Given the description of an element on the screen output the (x, y) to click on. 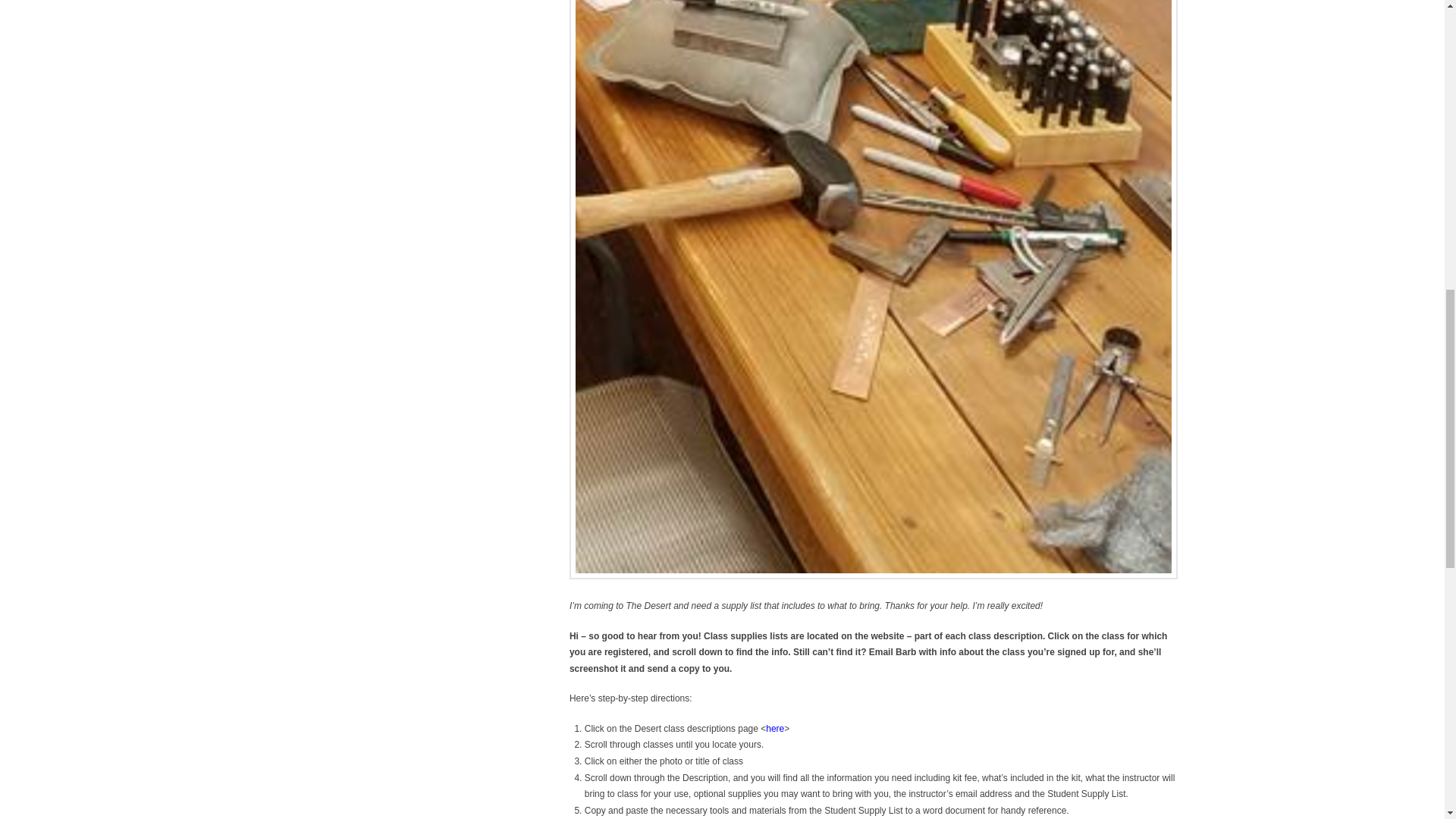
here (774, 728)
